Given the description of an element on the screen output the (x, y) to click on. 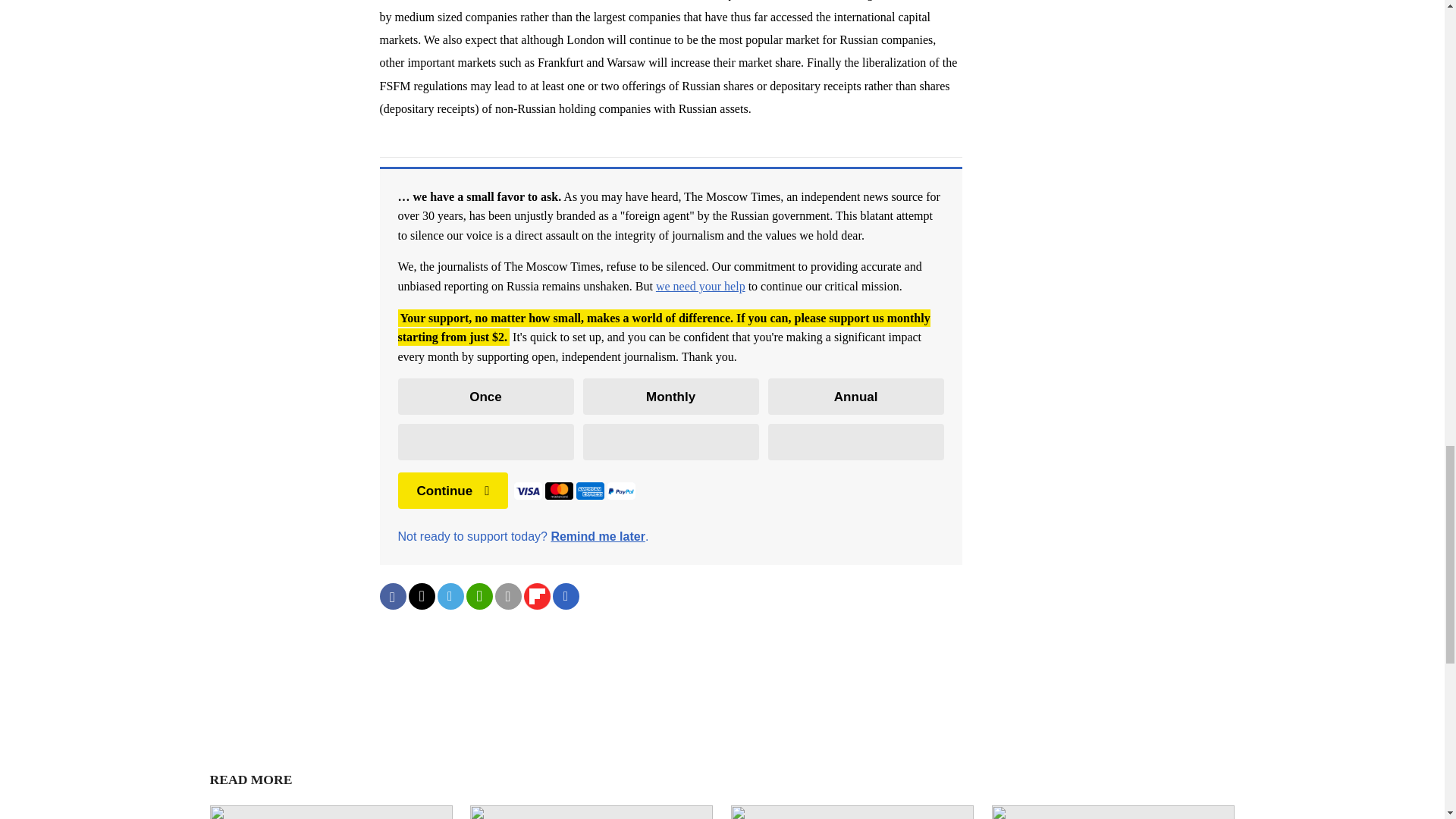
Download as PDF (565, 596)
Share with email (508, 596)
Share on WhatsApp (478, 596)
Share on Telegram (449, 596)
Share on Twitter (420, 596)
Share on Facebook (392, 596)
Share on Flipboard (536, 596)
we need your help (700, 286)
